Given the description of an element on the screen output the (x, y) to click on. 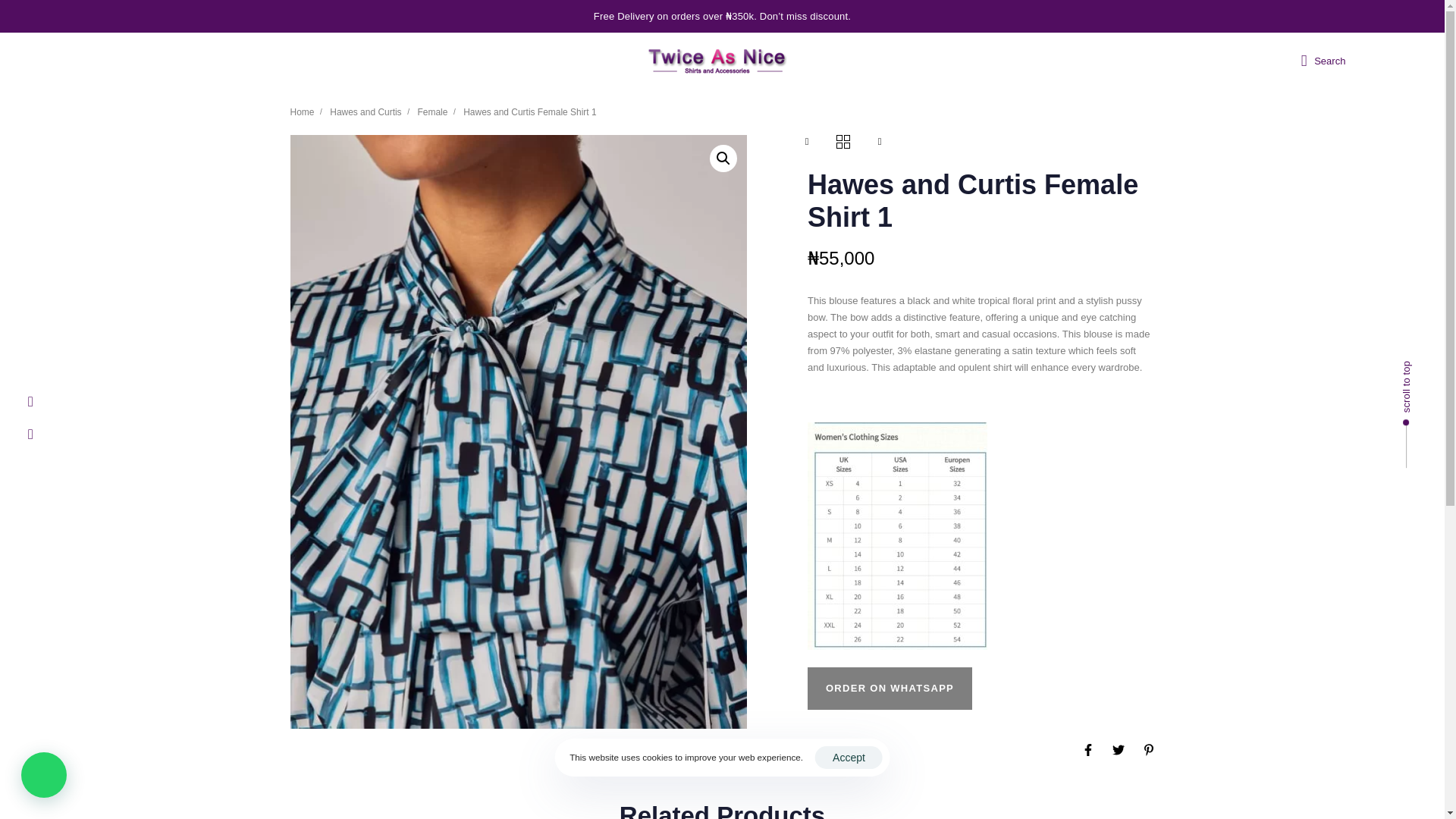
Home (301, 111)
ORDER ON WHATSAPP (890, 688)
Hawes and Curtis (365, 111)
Female (431, 111)
